Given the description of an element on the screen output the (x, y) to click on. 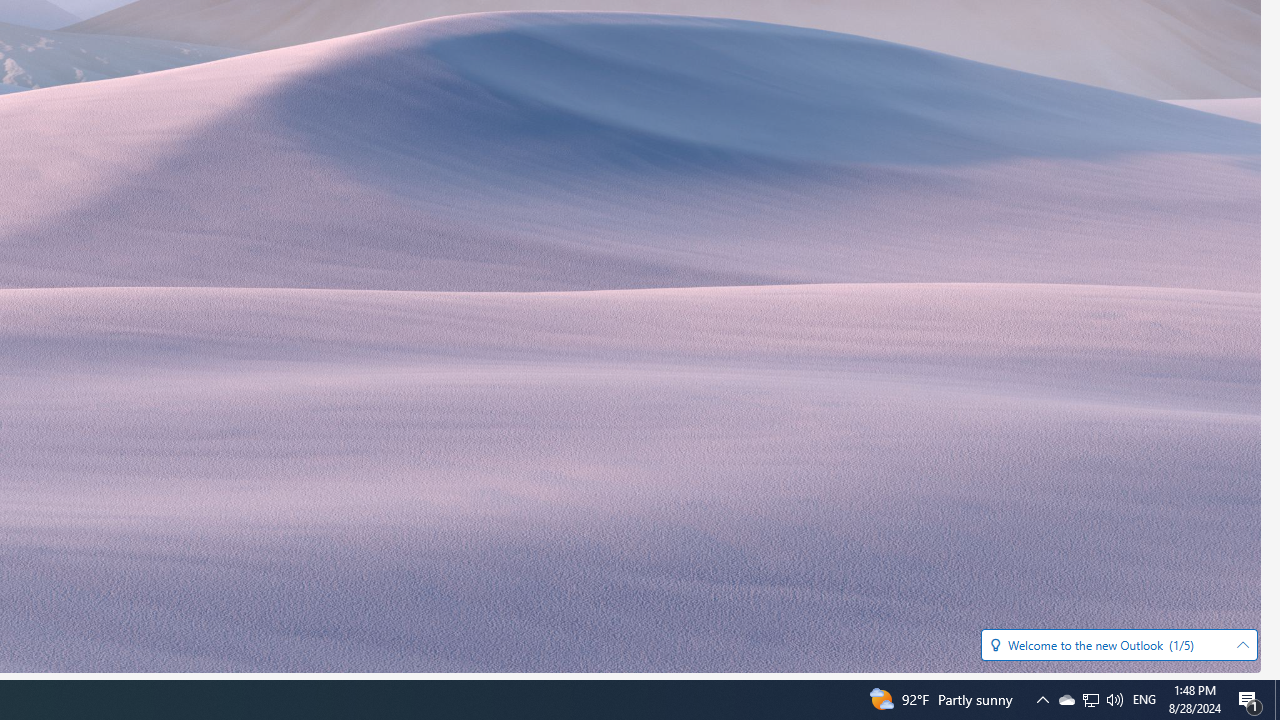
Open (1242, 645)
